Given the description of an element on the screen output the (x, y) to click on. 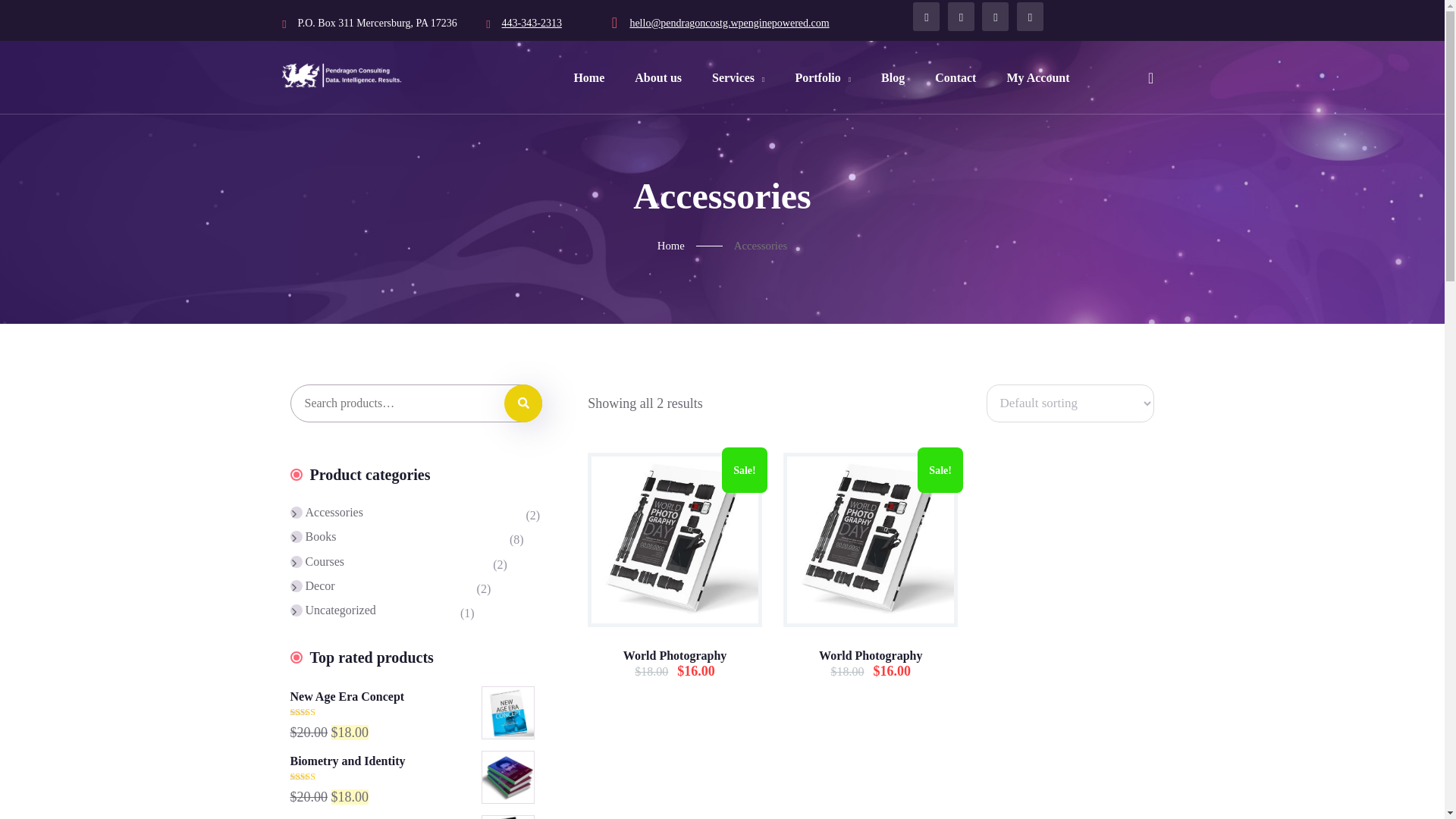
Biometry and Identity (415, 761)
Accessories (327, 512)
My Account (1037, 76)
443-343-2313 (532, 22)
443-343-2313 (532, 22)
SEARCH (522, 403)
Courses (317, 561)
Portfolio (822, 76)
Uncategorized (333, 608)
Services (738, 76)
About us (658, 76)
New Age Era Concept (415, 696)
Home (695, 245)
Books (313, 536)
Decor (312, 586)
